Given the description of an element on the screen output the (x, y) to click on. 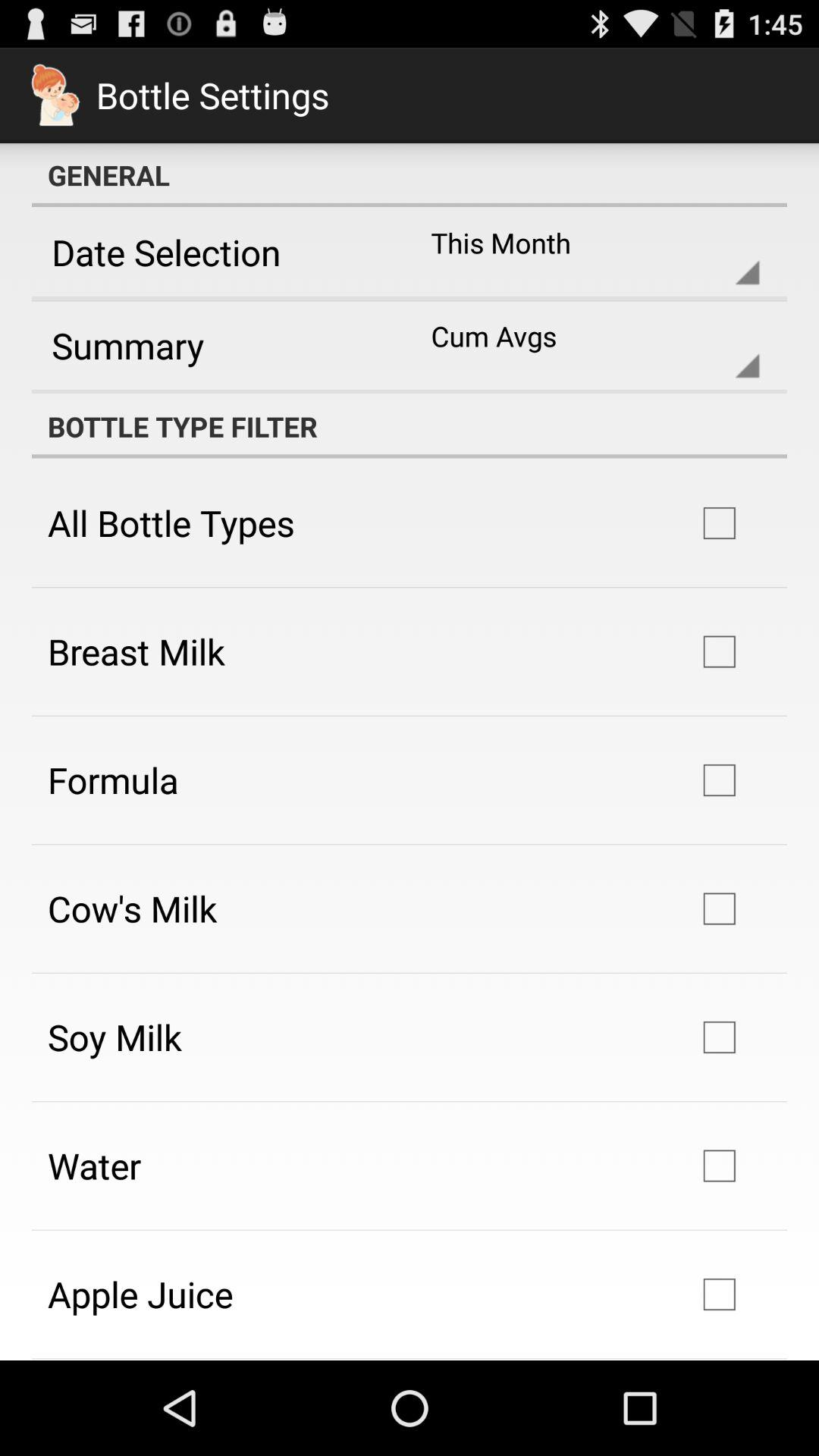
turn on app below general item (215, 252)
